Given the description of an element on the screen output the (x, y) to click on. 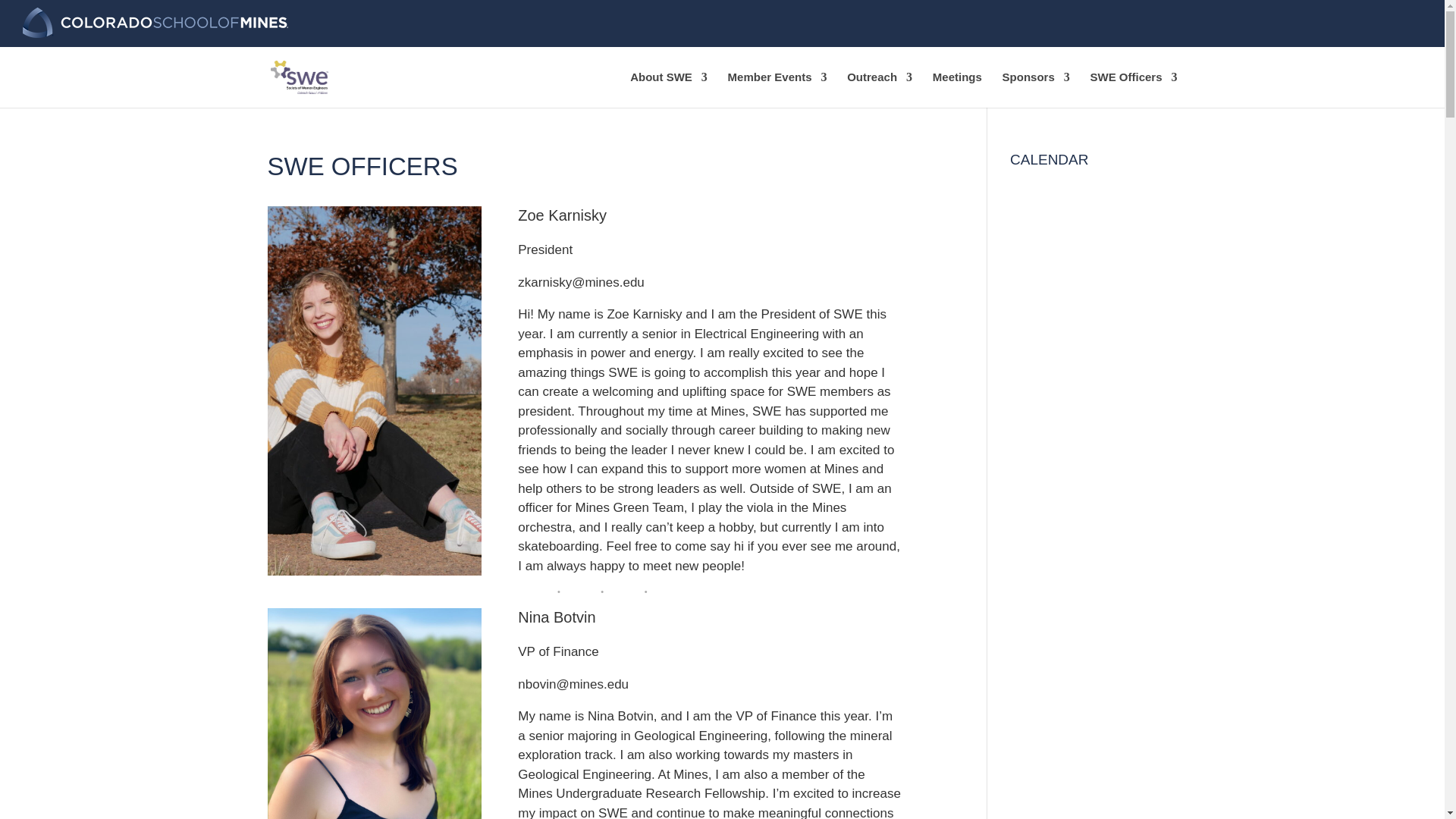
Outreach (879, 89)
SWE Officers (1132, 89)
About SWE (668, 89)
Sponsors (1036, 89)
Meetings (957, 89)
Member Events (777, 89)
